Given the description of an element on the screen output the (x, y) to click on. 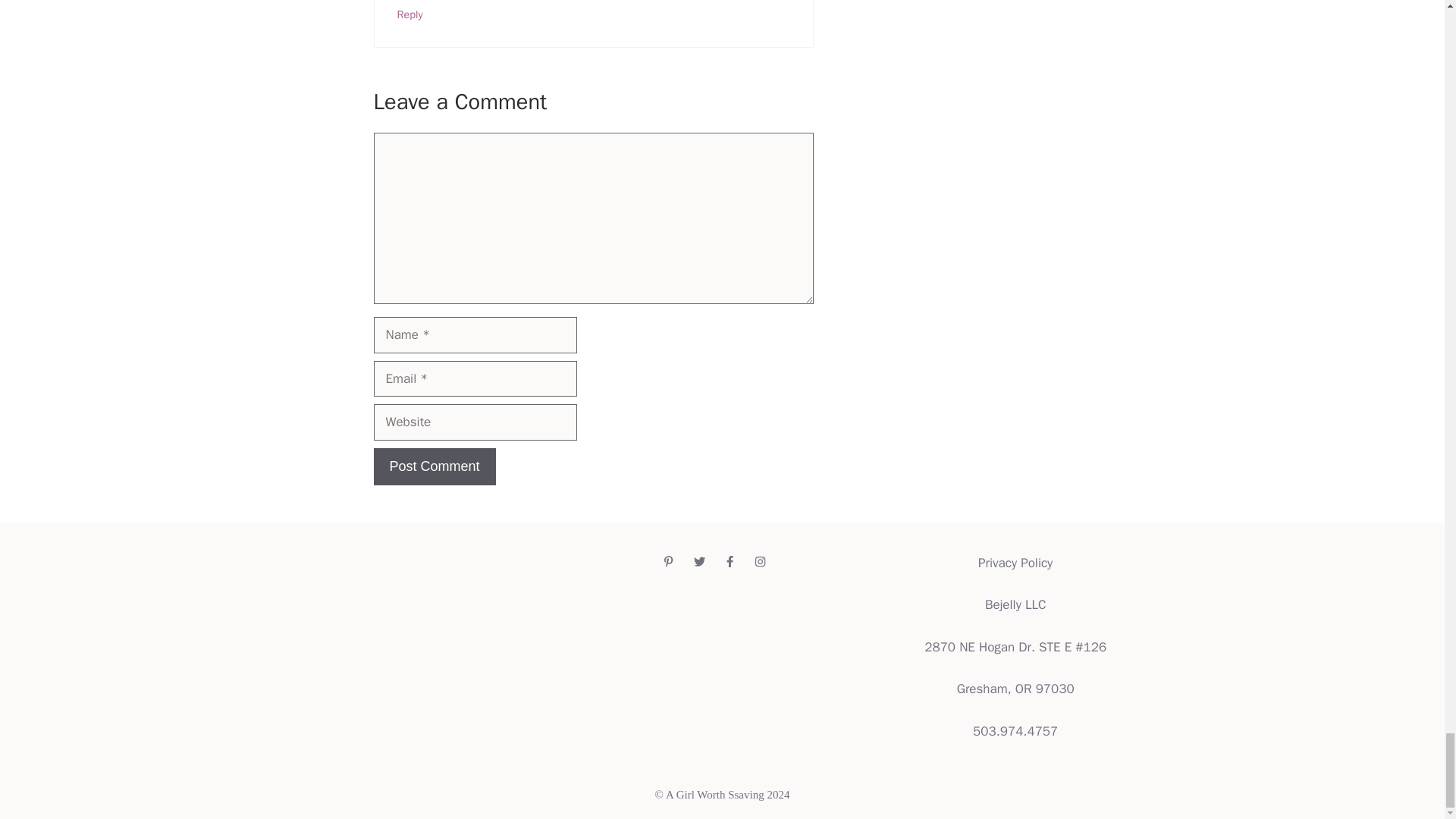
Post Comment (433, 466)
